Given the description of an element on the screen output the (x, y) to click on. 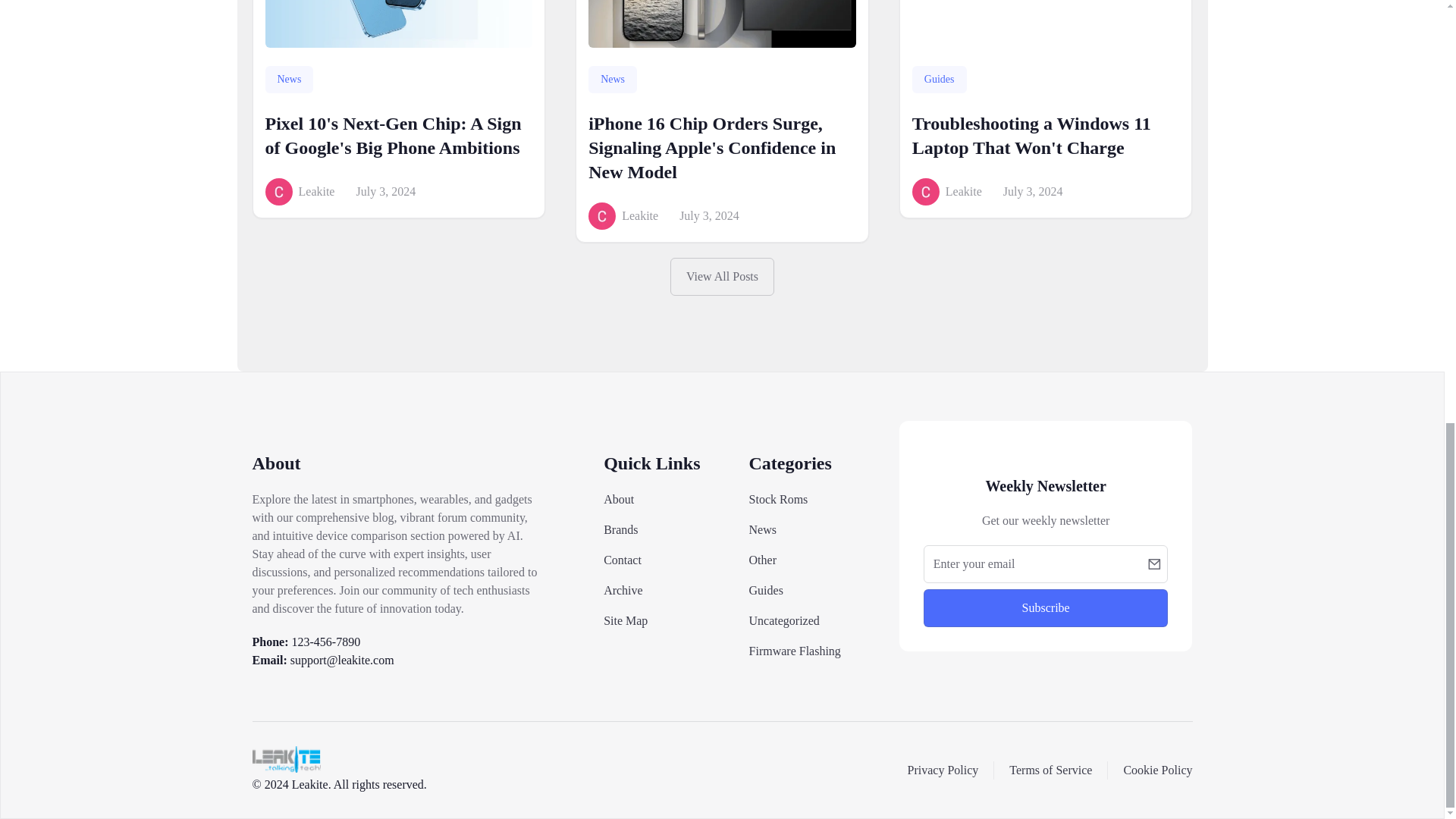
Firmware Flashing (795, 650)
News (762, 529)
View All Posts (721, 276)
About (618, 499)
Archive (623, 590)
Guides (766, 590)
Terms of Service (1050, 769)
Uncategorized (784, 620)
Subscribe (1046, 607)
Other (762, 559)
Cookie Policy (1157, 769)
Brands (620, 529)
Site Map (625, 620)
